Given the description of an element on the screen output the (x, y) to click on. 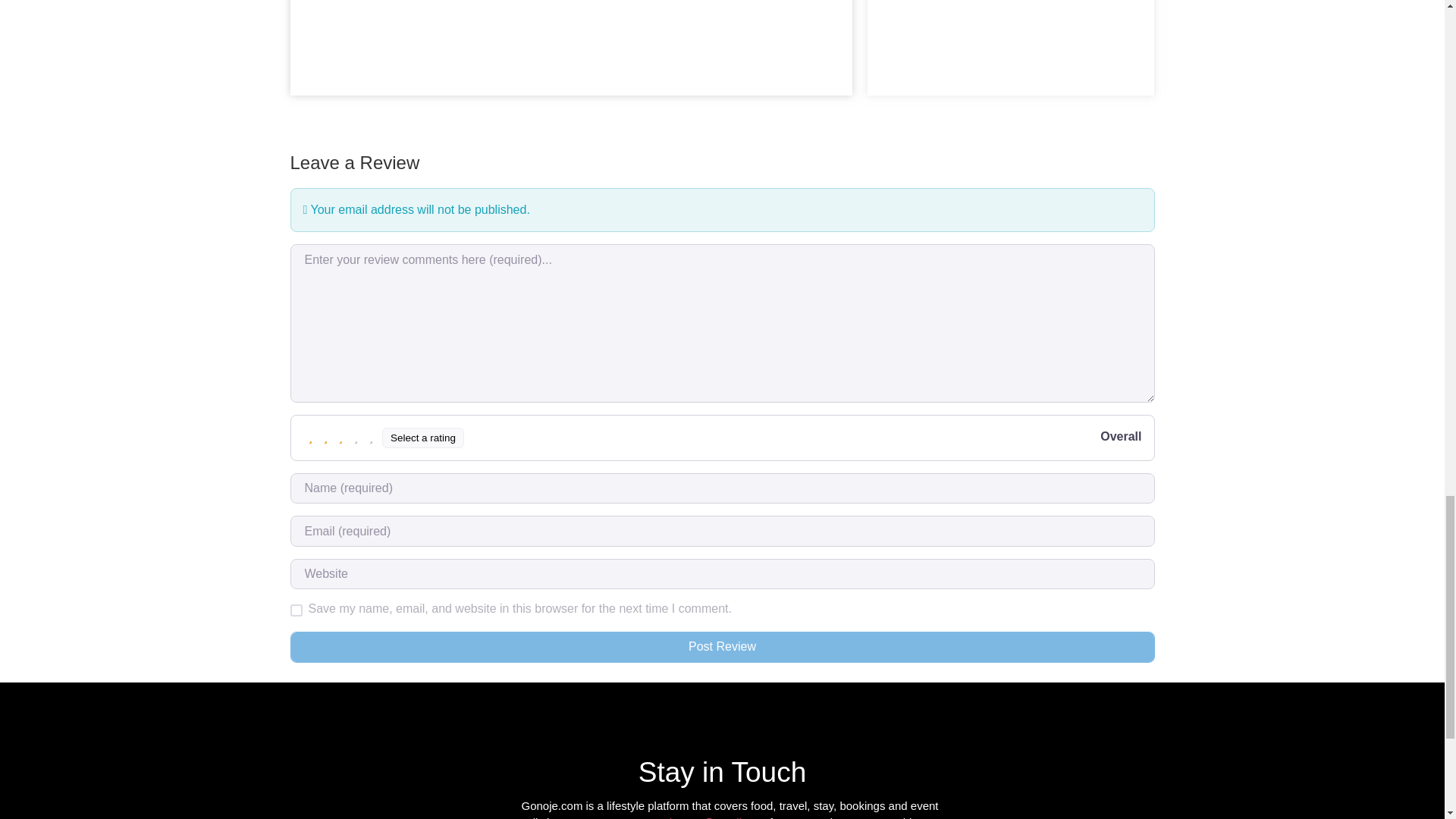
Post Review (721, 646)
Terrible (310, 437)
yes (295, 610)
Average (341, 437)
Very Good (356, 437)
Excellent (371, 437)
Post Review (721, 646)
Poor (325, 437)
